Given the description of an element on the screen output the (x, y) to click on. 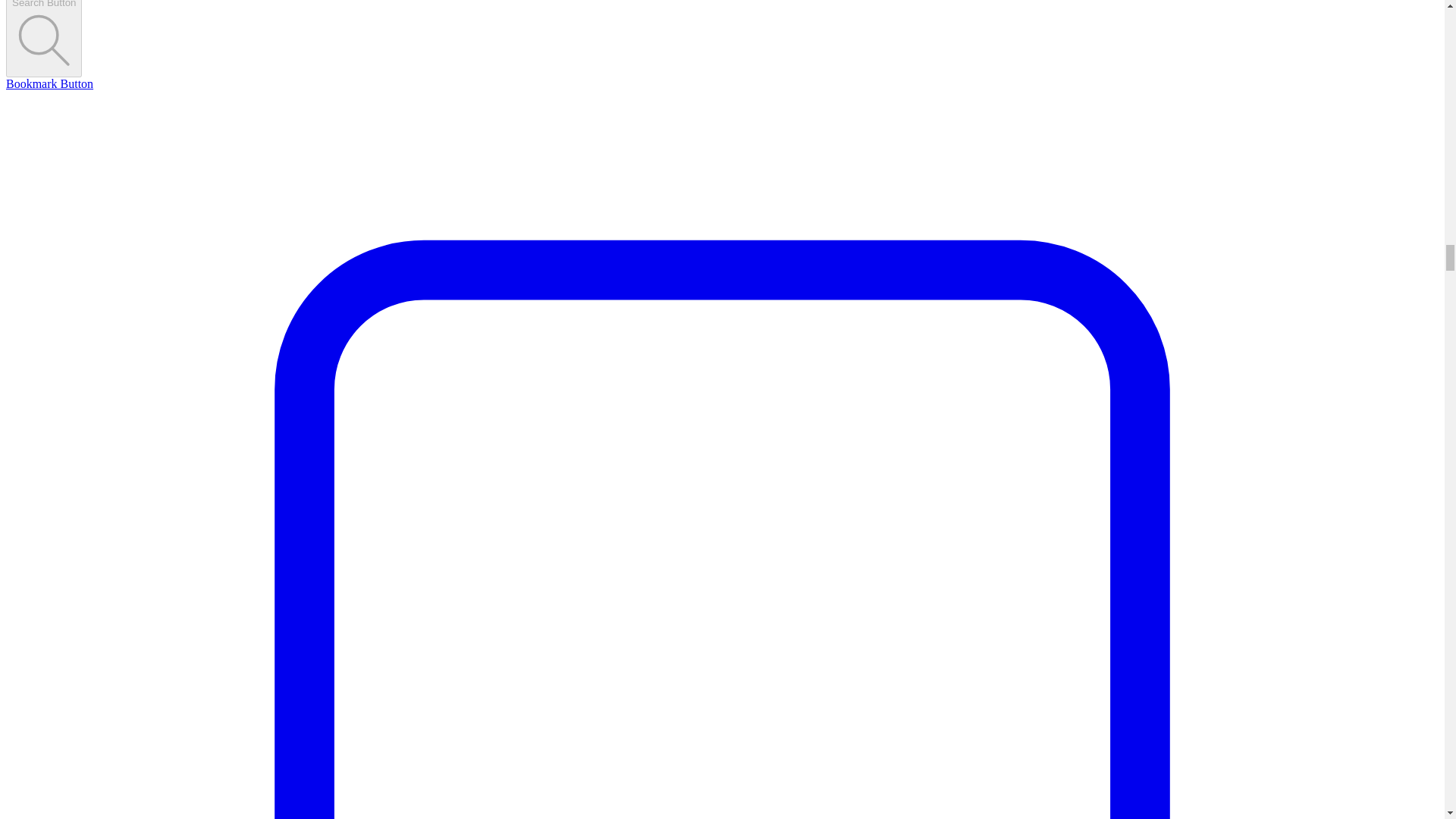
Search Button (43, 38)
